Given the description of an element on the screen output the (x, y) to click on. 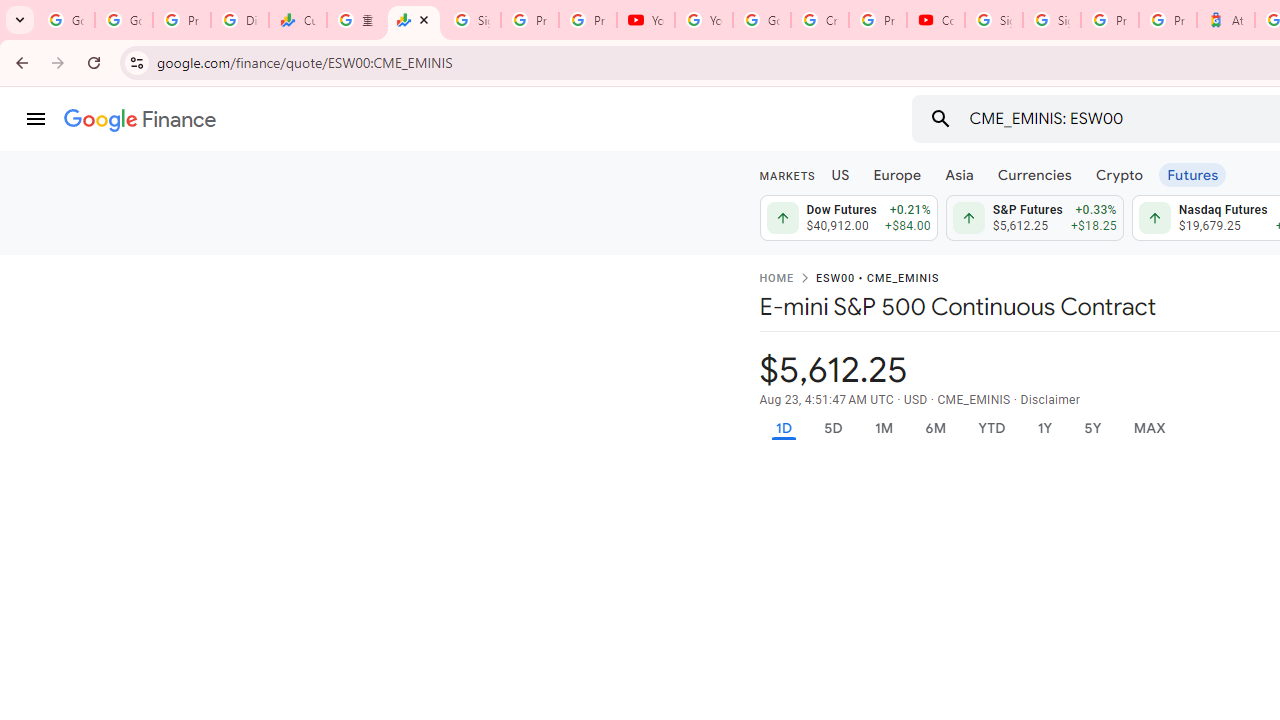
Google Account Help (762, 20)
HOME (776, 279)
